Given the description of an element on the screen output the (x, y) to click on. 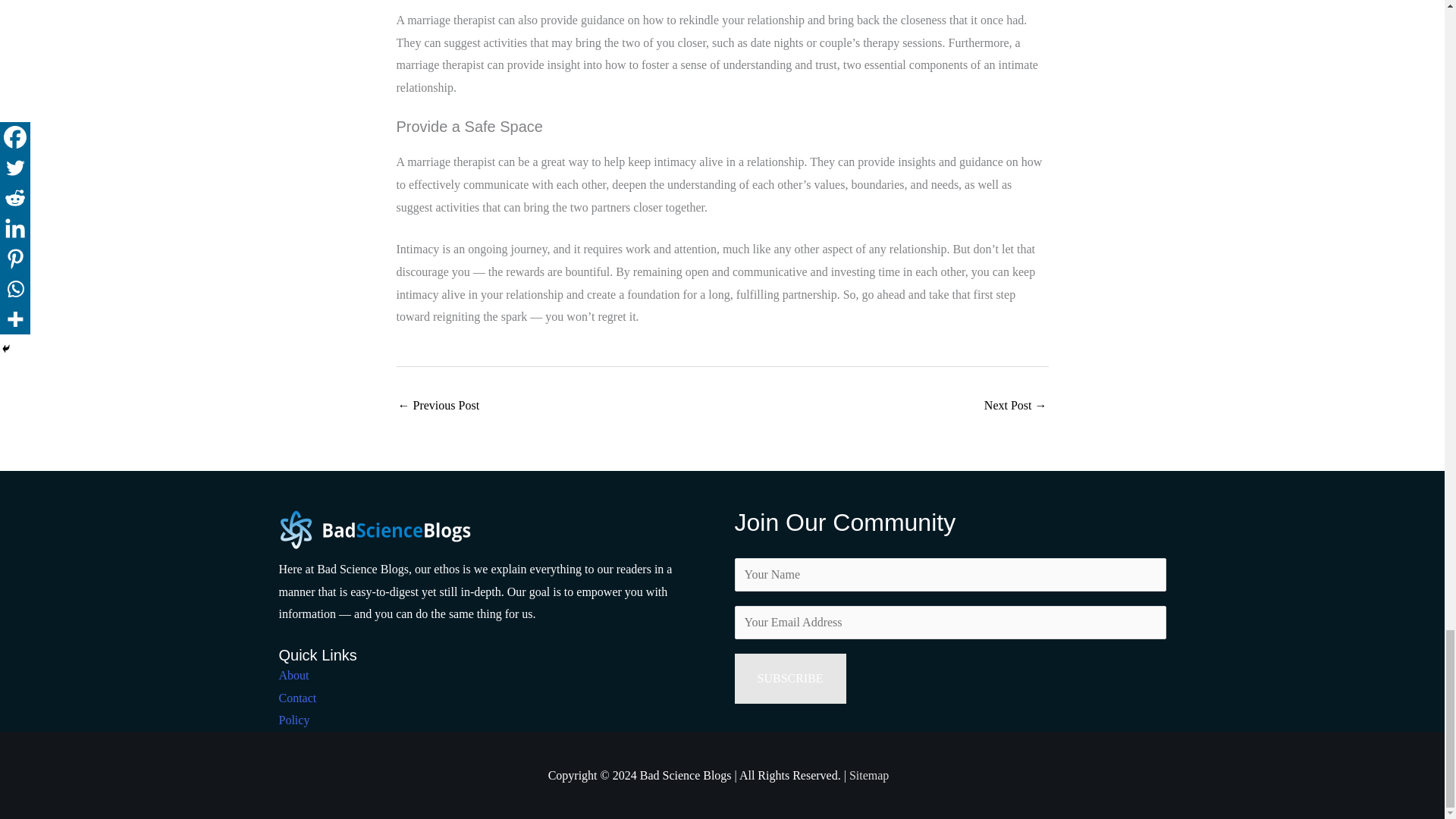
Sitemap (868, 775)
About (293, 675)
SUBSCRIBE (789, 678)
Policy (294, 719)
SUBSCRIBE (789, 678)
A Guide to Pain Management Innovations in Palliative Care (438, 406)
Contact (298, 697)
